Given the description of an element on the screen output the (x, y) to click on. 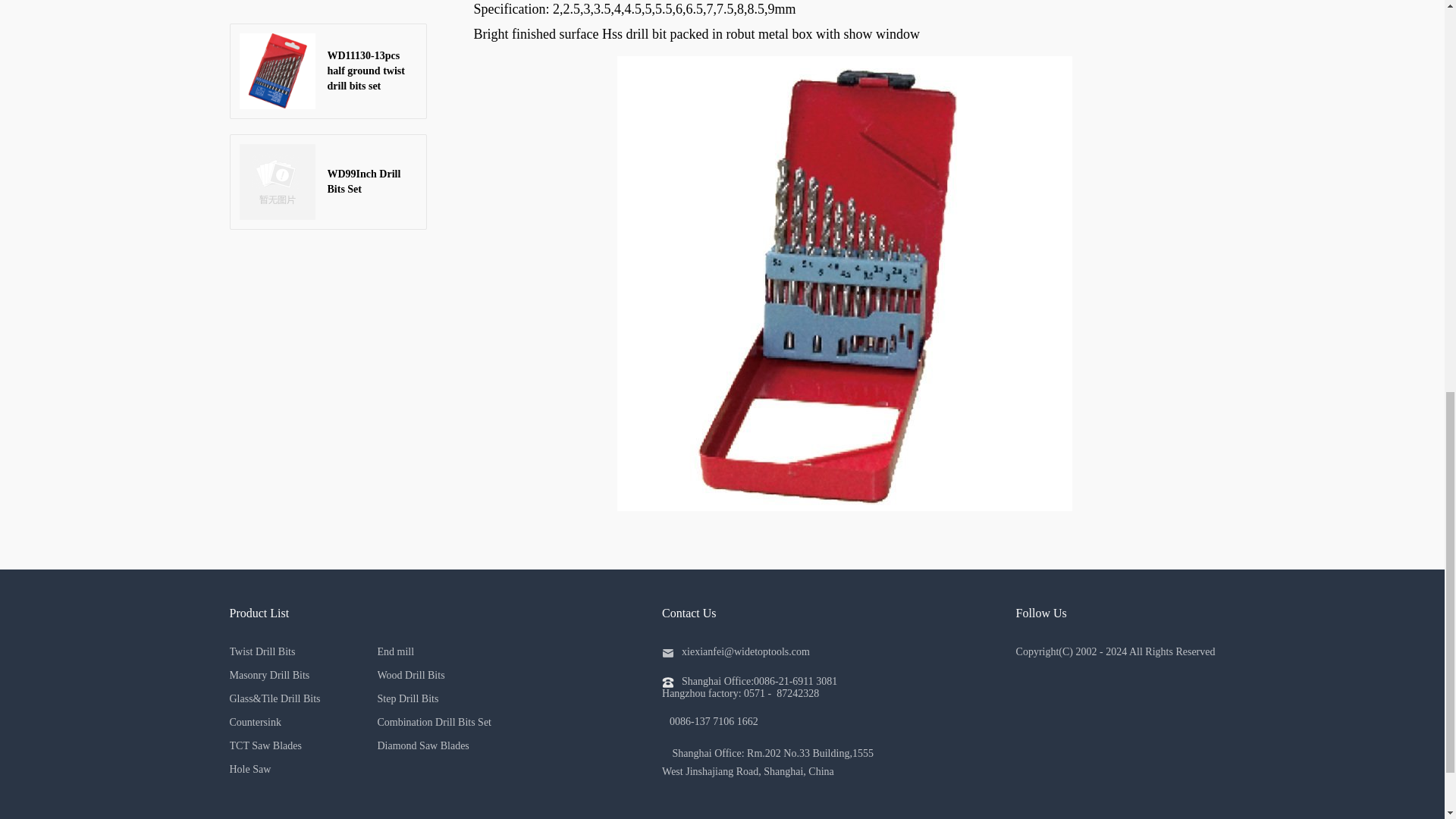
WD11130-13pcs half ground twist drill bits set (327, 70)
WD99Inch Drill Bits Set (327, 182)
